Given the description of an element on the screen output the (x, y) to click on. 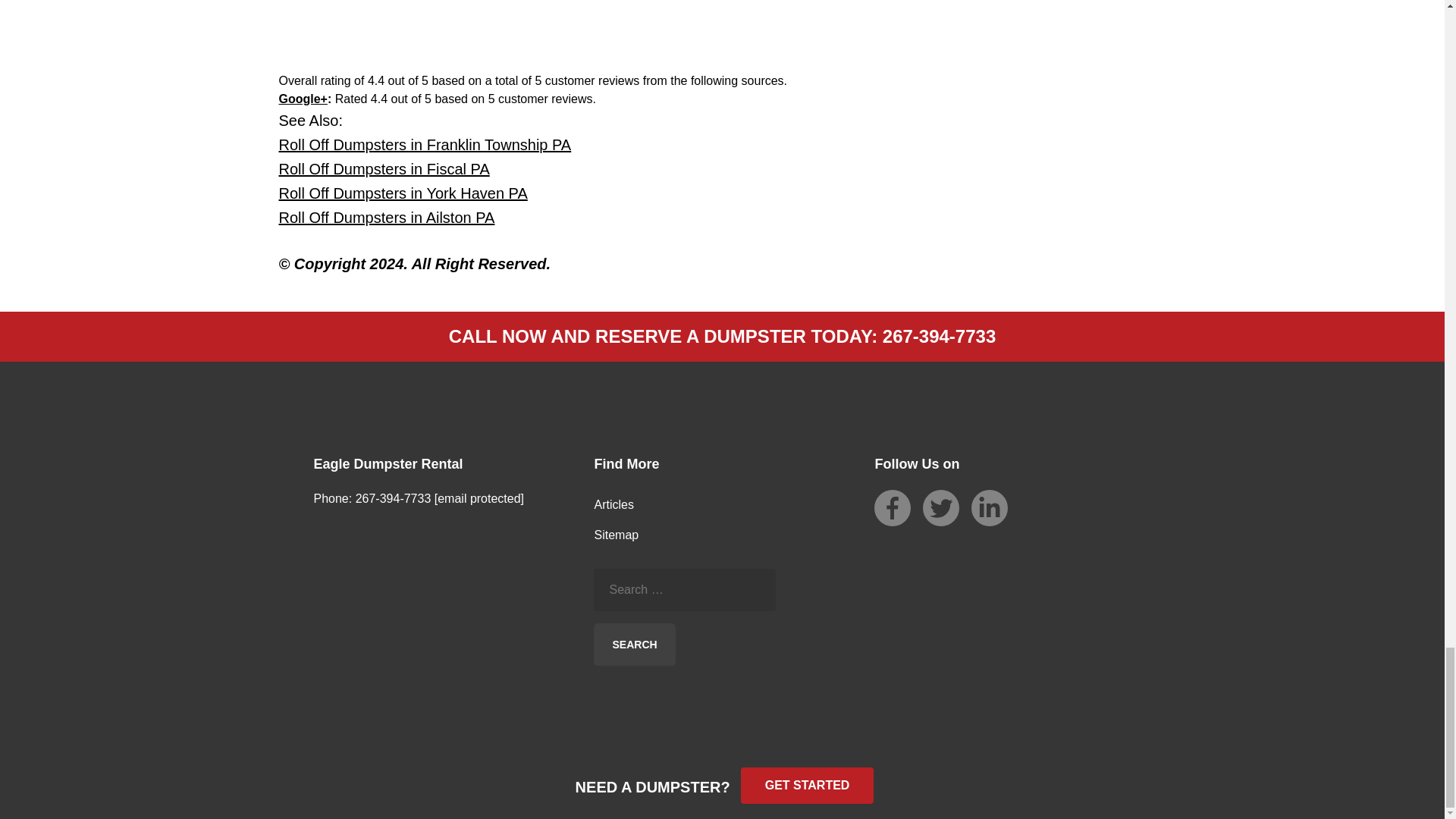
Roll Off Dumpsters in Franklin Township PA (425, 143)
Sitemap (616, 534)
Roll Off Dumpsters in Fiscal PA (384, 167)
Roll Off Dumpsters in York Haven PA (403, 192)
Search (634, 643)
Articles (613, 504)
Search (634, 643)
Search (634, 643)
Roll Off Dumpsters in Ailston PA (387, 216)
